Given the description of an element on the screen output the (x, y) to click on. 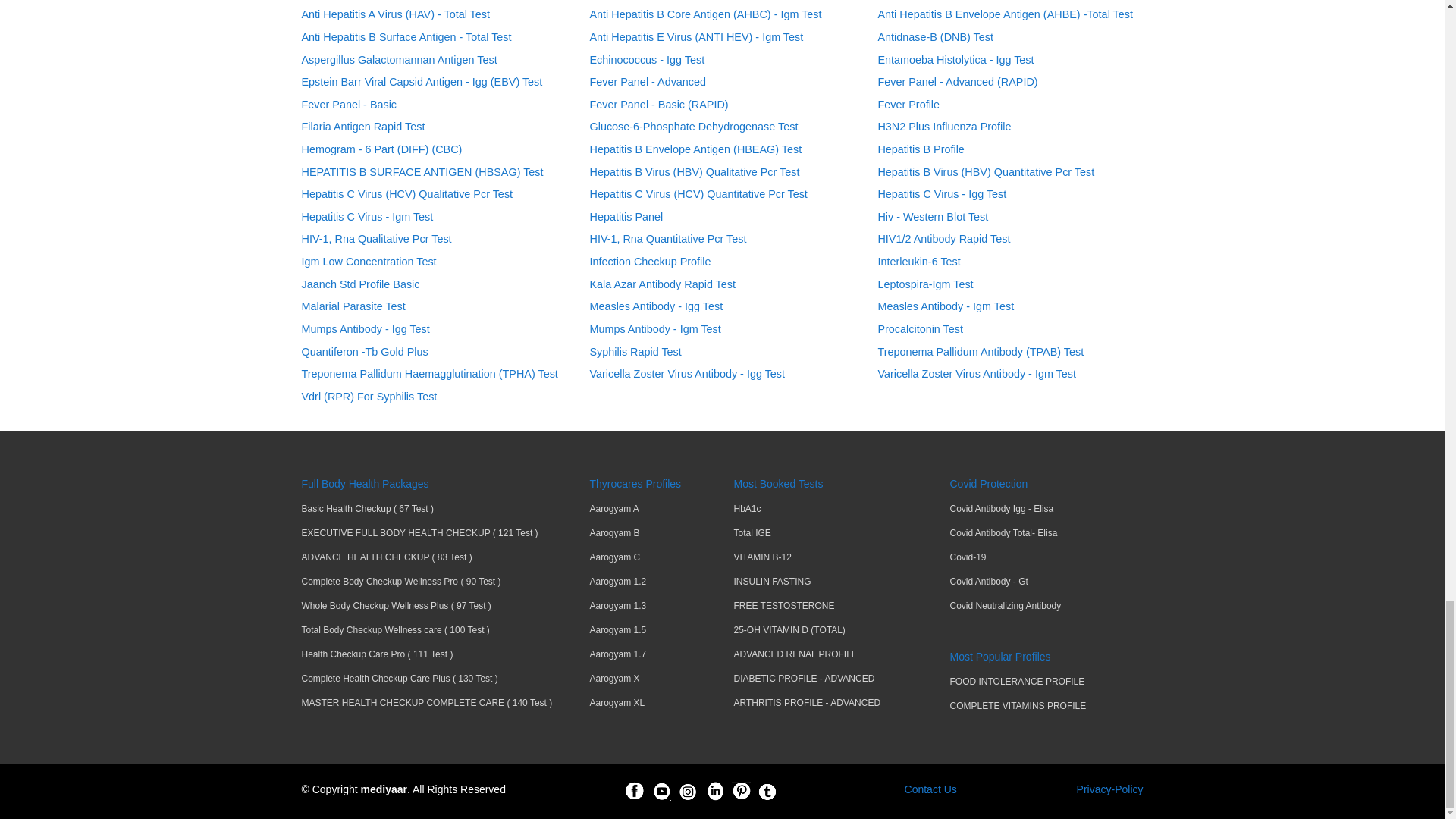
Anti Chlamydia Antibody Igg Test (381, 2)
